Given the description of an element on the screen output the (x, y) to click on. 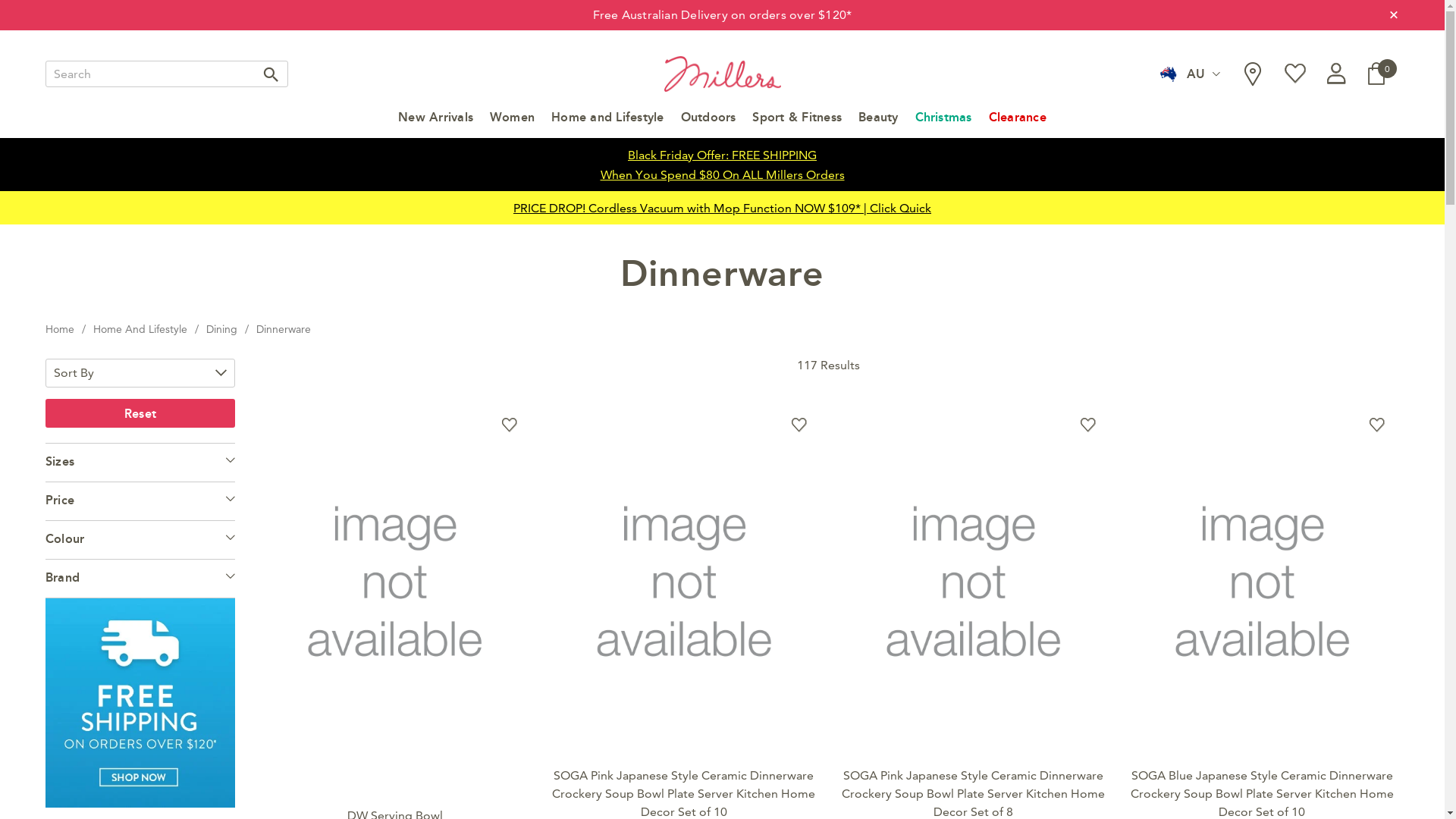
Login Element type: text (1335, 73)
Wishlist Element type: hover (1376, 424)
Clearance Element type: text (1017, 123)
Free Australian Delivery on orders over $120* Element type: text (722, 14)
Reset Element type: text (140, 412)
Dinnerware Element type: text (283, 328)
Outdoors Element type: text (708, 123)
Chat Element type: hover (1406, 778)
Beauty Element type: text (877, 123)
Christmas Element type: text (943, 123)
Wishlist Element type: hover (798, 424)
Sport & Fitness Element type: text (796, 123)
Women Element type: text (511, 123)
Home And Lifestyle Element type: text (140, 328)
Dining Element type: text (221, 328)
Millers Element type: hover (722, 73)
Home and Lifestyle Element type: text (607, 123)
Wishlist Element type: hover (509, 424)
Wishlist Element type: text (1294, 73)
DW Serving Bowl Element type: hover (394, 580)
Wishlist Element type: hover (1087, 424)
New Arrivals Element type: text (435, 123)
0 Element type: text (1376, 73)
Home Element type: text (59, 328)
